Given the description of an element on the screen output the (x, y) to click on. 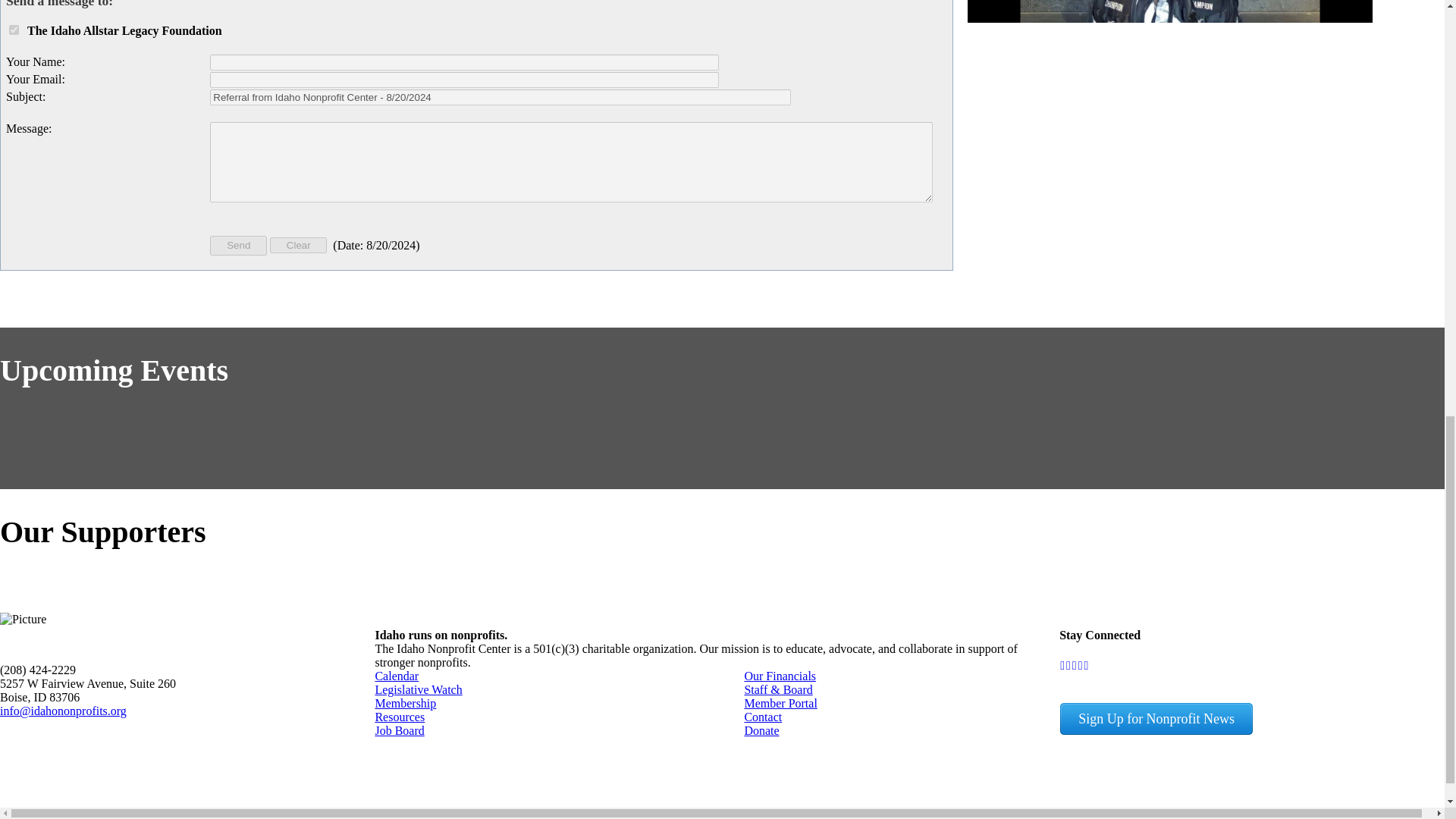
You cannot change the Email Subject (499, 97)
Send (237, 245)
Clear (297, 245)
on (13, 30)
